Given the description of an element on the screen output the (x, y) to click on. 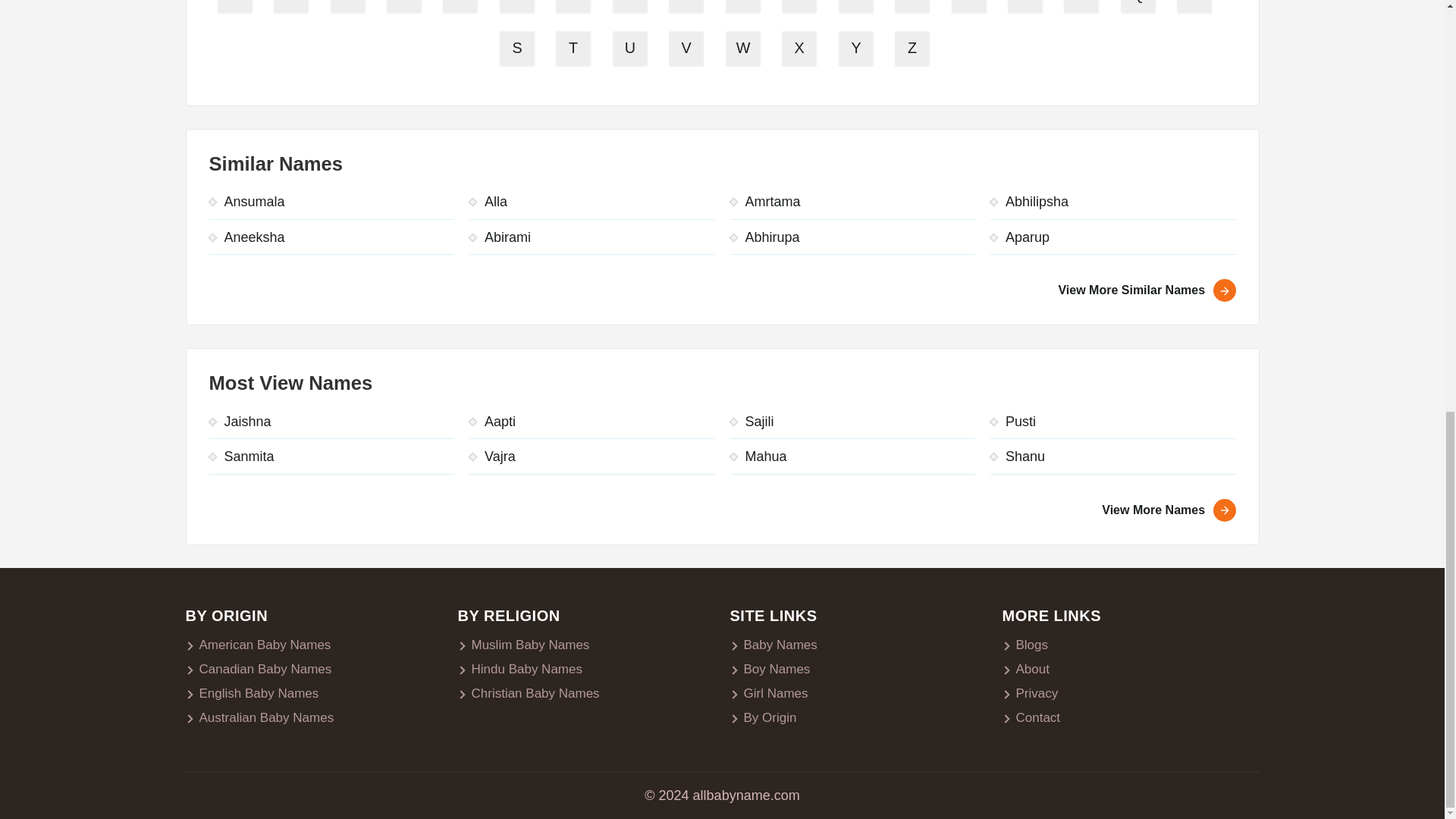
J (743, 7)
D (406, 7)
B (294, 7)
E (462, 7)
A (236, 7)
H (631, 7)
I (688, 7)
G (575, 7)
C (349, 7)
F (518, 7)
